Given the description of an element on the screen output the (x, y) to click on. 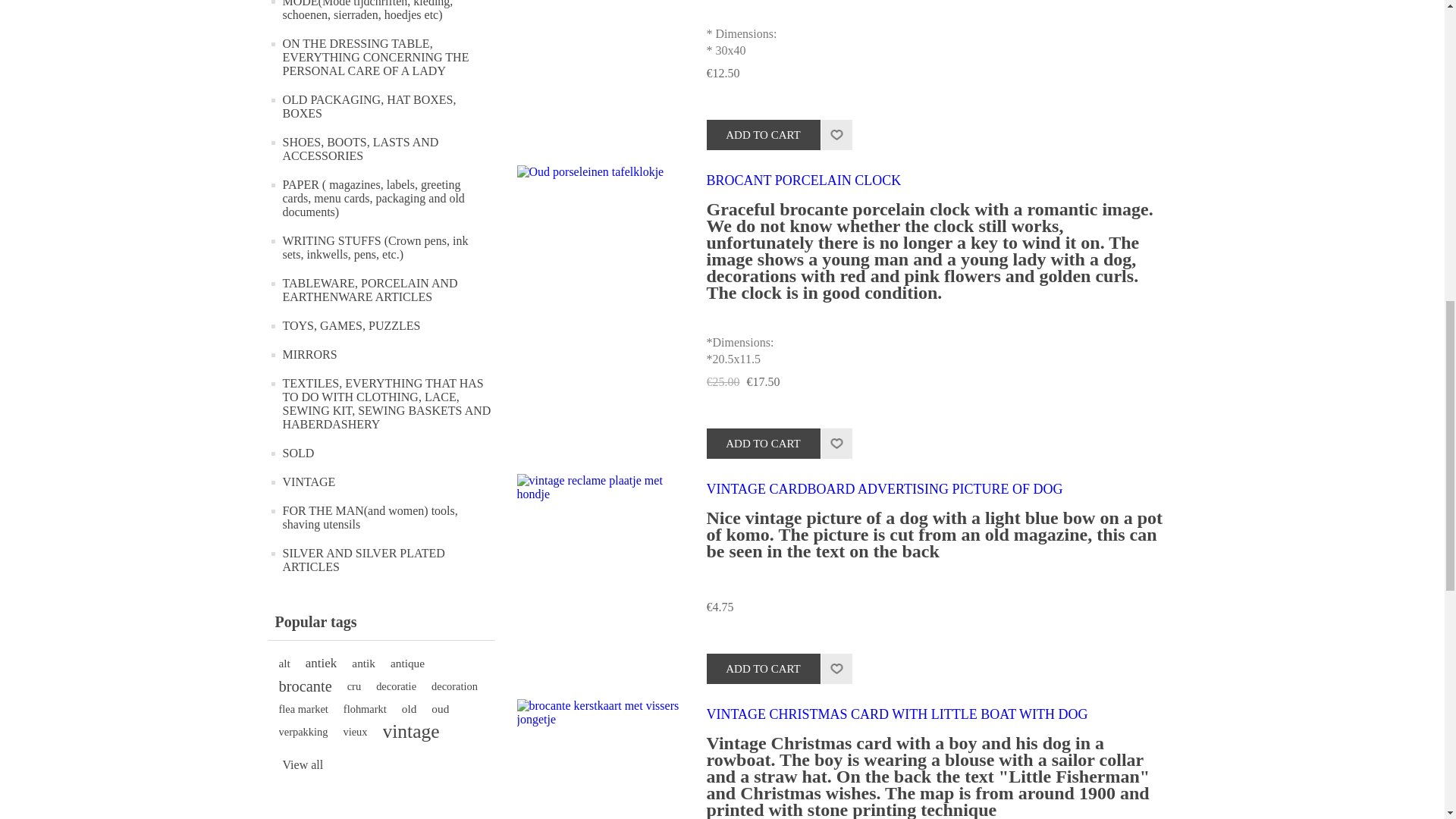
Add to wishlist (836, 668)
Add to cart (763, 134)
brocante reclamebord pears soap (599, 36)
Oud porseleinen tafelklokje (600, 248)
Add to cart (763, 668)
Add to cart (763, 443)
Add to wishlist (836, 134)
Add to wishlist (836, 134)
brocante reclamebord pears soap (600, 36)
Add to wishlist (836, 443)
